Given the description of an element on the screen output the (x, y) to click on. 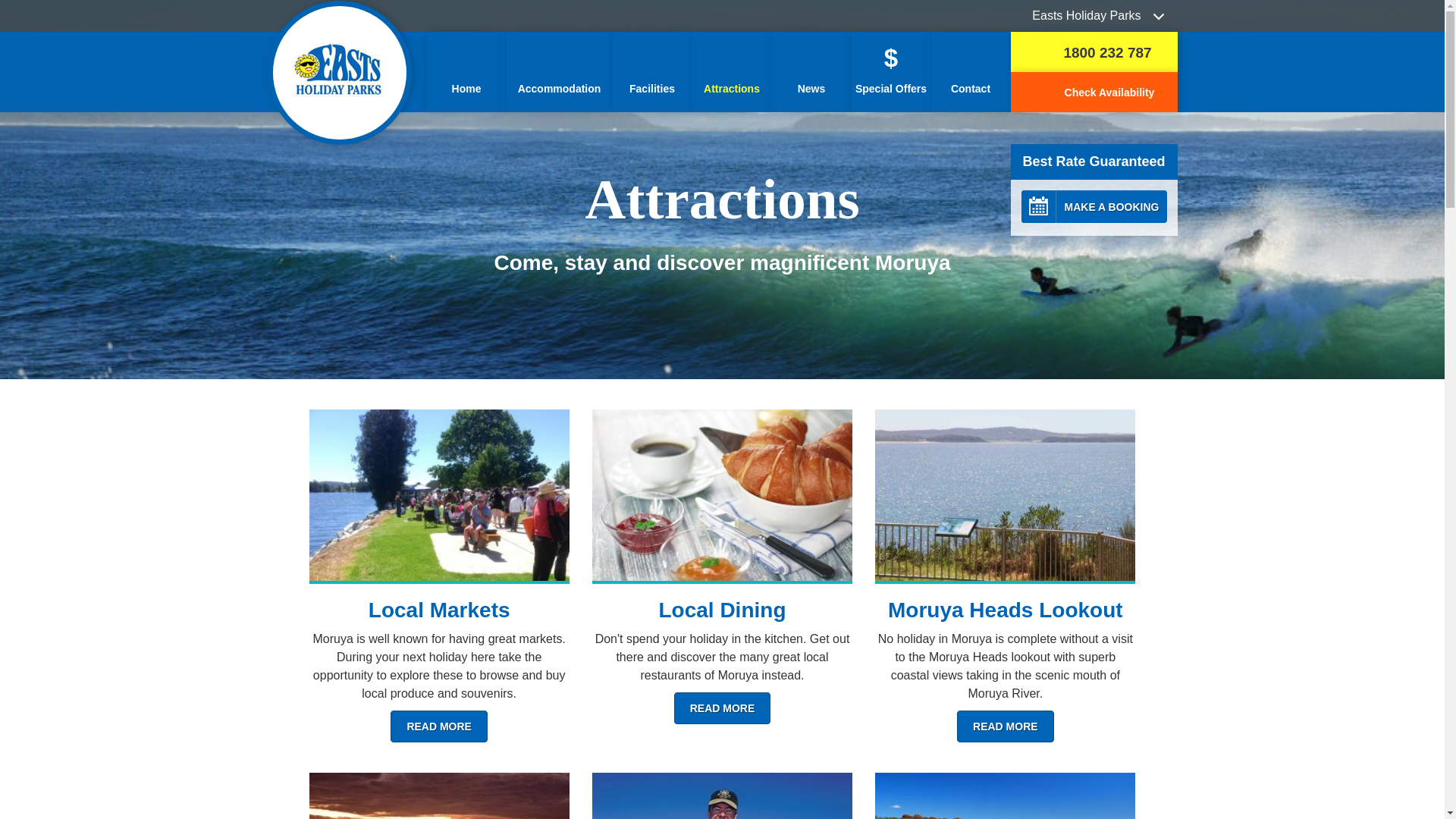
READ MORE Element type: text (1005, 726)
Easts Holiday Parks Element type: text (1093, 15)
$
Special Offers Element type: text (890, 71)
Local Dining Element type: text (721, 609)
READ MORE Element type: text (722, 708)
News Element type: text (811, 71)
Facilities Element type: text (652, 71)
Moruya Heads Lookout Element type: text (1005, 609)
1800 232 787 Element type: text (1093, 51)
Home Element type: text (465, 71)
Local Markets Element type: text (439, 609)
CALENDAR MAKE A BOOKING Element type: text (1094, 206)
Contact Element type: text (970, 71)
View the Moruya Heads Lookout Element type: hover (1005, 496)
View the Local Markets Element type: hover (439, 496)
READ MORE Element type: text (438, 726)
Attractions Element type: text (731, 71)
Accommodation Element type: text (559, 71)
Check Availability Element type: text (1093, 92)
View the Local Dining Element type: hover (722, 496)
